Given the description of an element on the screen output the (x, y) to click on. 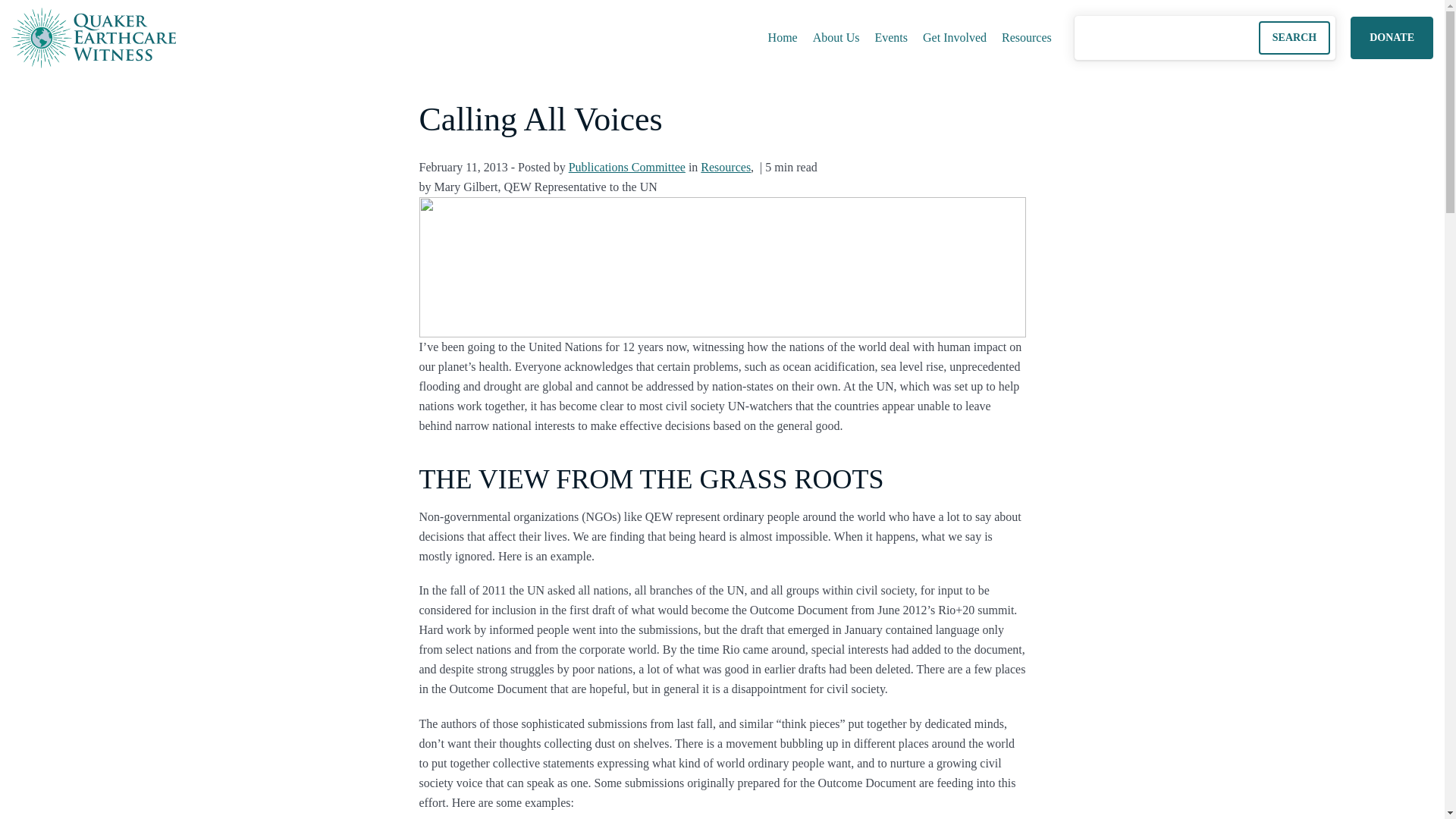
DONATE (1391, 37)
Resources (1026, 37)
Get Involved (954, 37)
About Us (836, 37)
Events (890, 37)
Home (782, 37)
Resources (725, 166)
Search (1294, 37)
Resources (725, 166)
Search (1294, 37)
Publications Committee (627, 166)
